Given the description of an element on the screen output the (x, y) to click on. 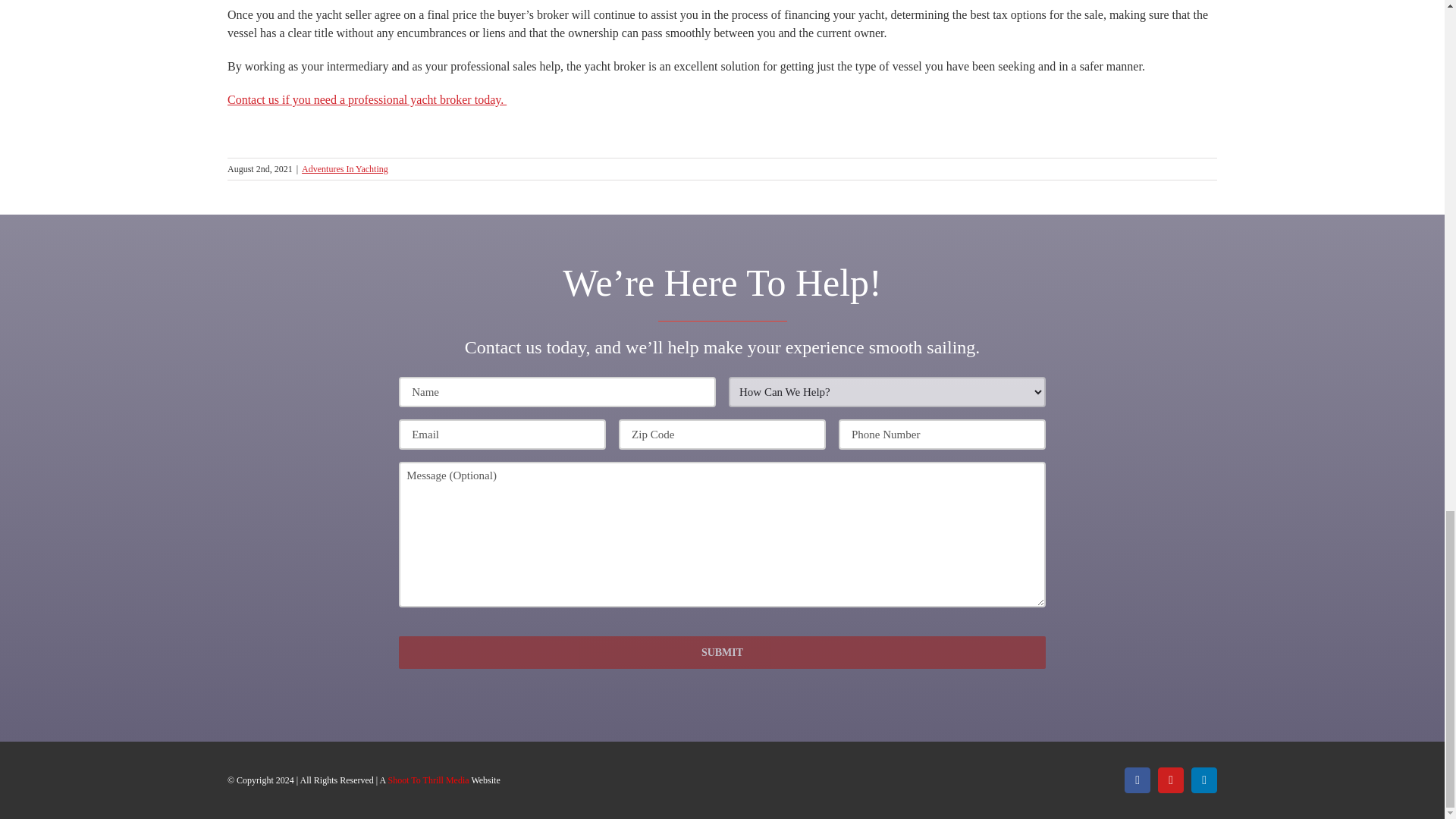
LinkedIn (1204, 780)
Submit (721, 652)
YouTube (1170, 780)
Facebook (1137, 780)
